Given the description of an element on the screen output the (x, y) to click on. 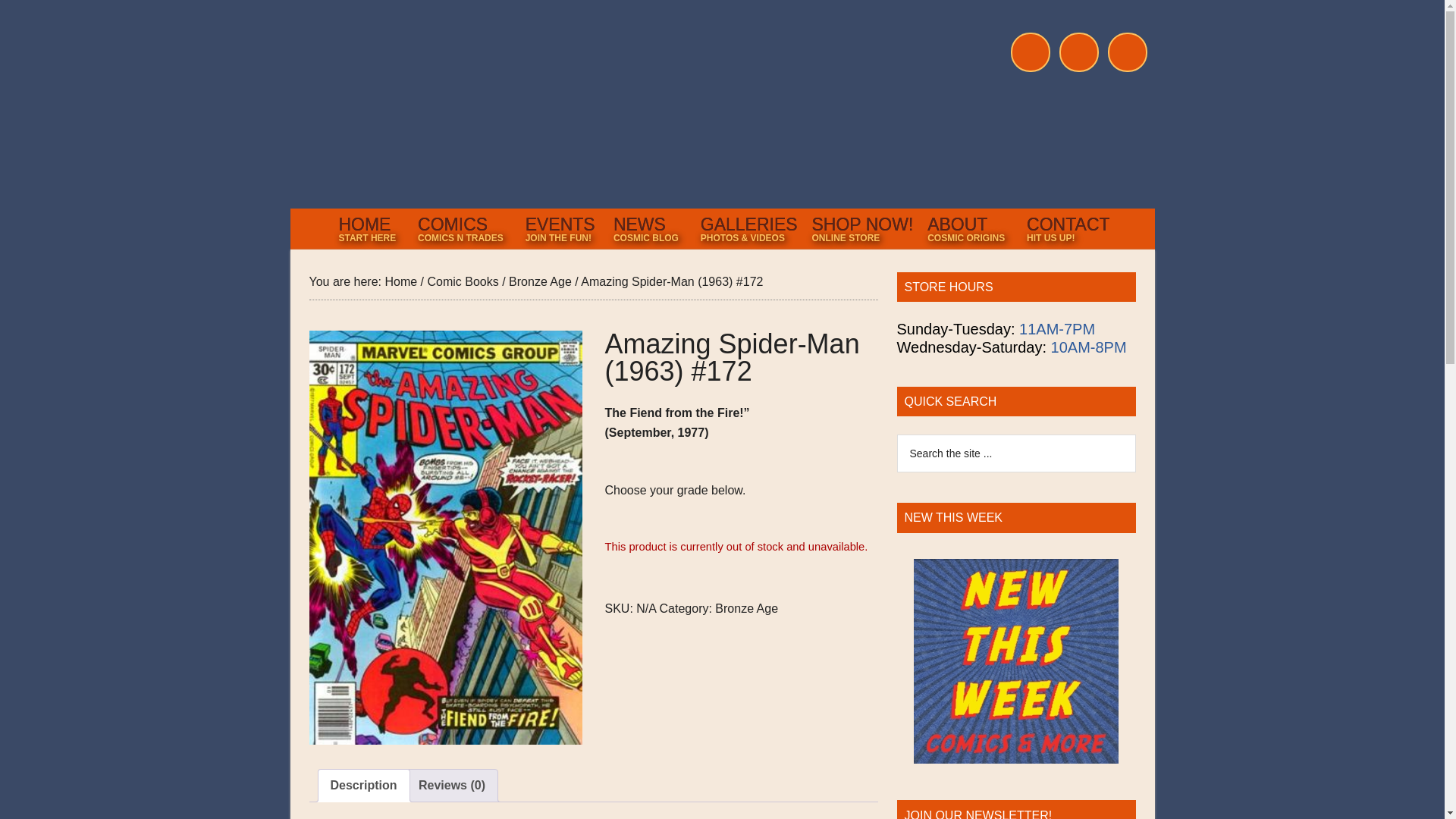
New This Week (1016, 660)
Cosmic Comics! (628, 107)
Description (968, 227)
Search (363, 785)
Bronze Age (560, 227)
